Given the description of an element on the screen output the (x, y) to click on. 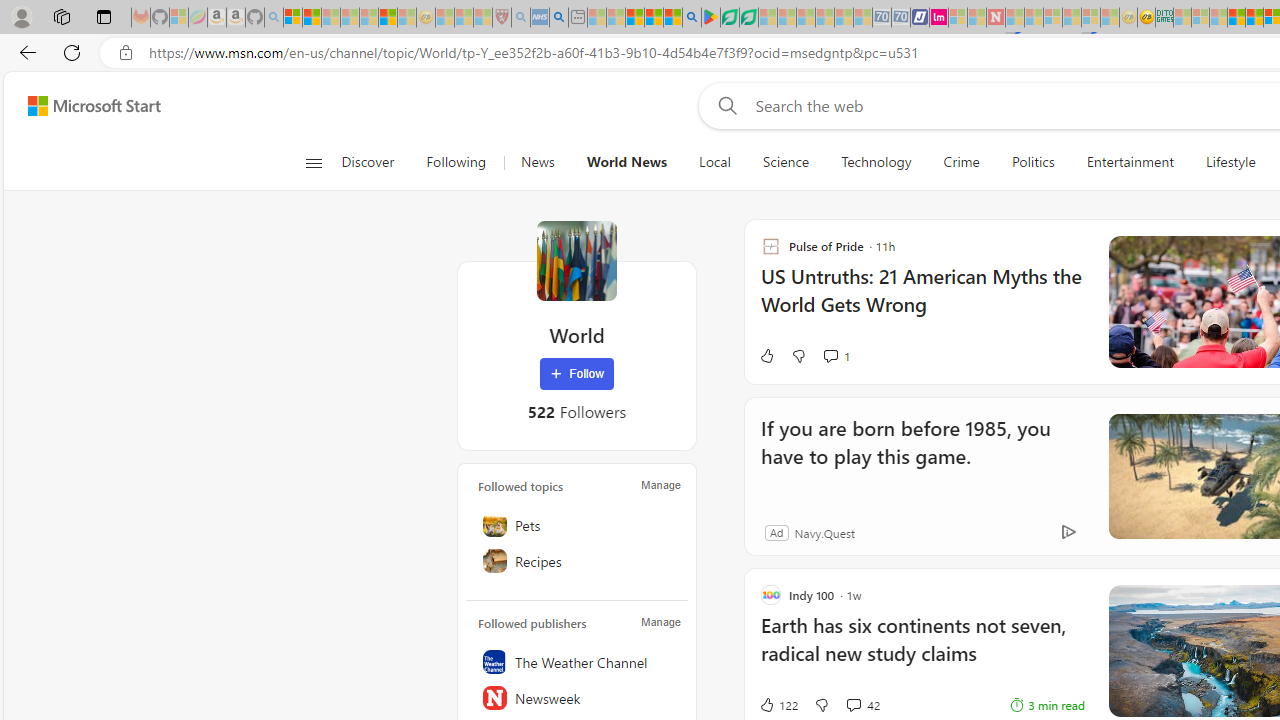
122 Like (778, 704)
Pets - MSN (654, 17)
